Given the description of an element on the screen output the (x, y) to click on. 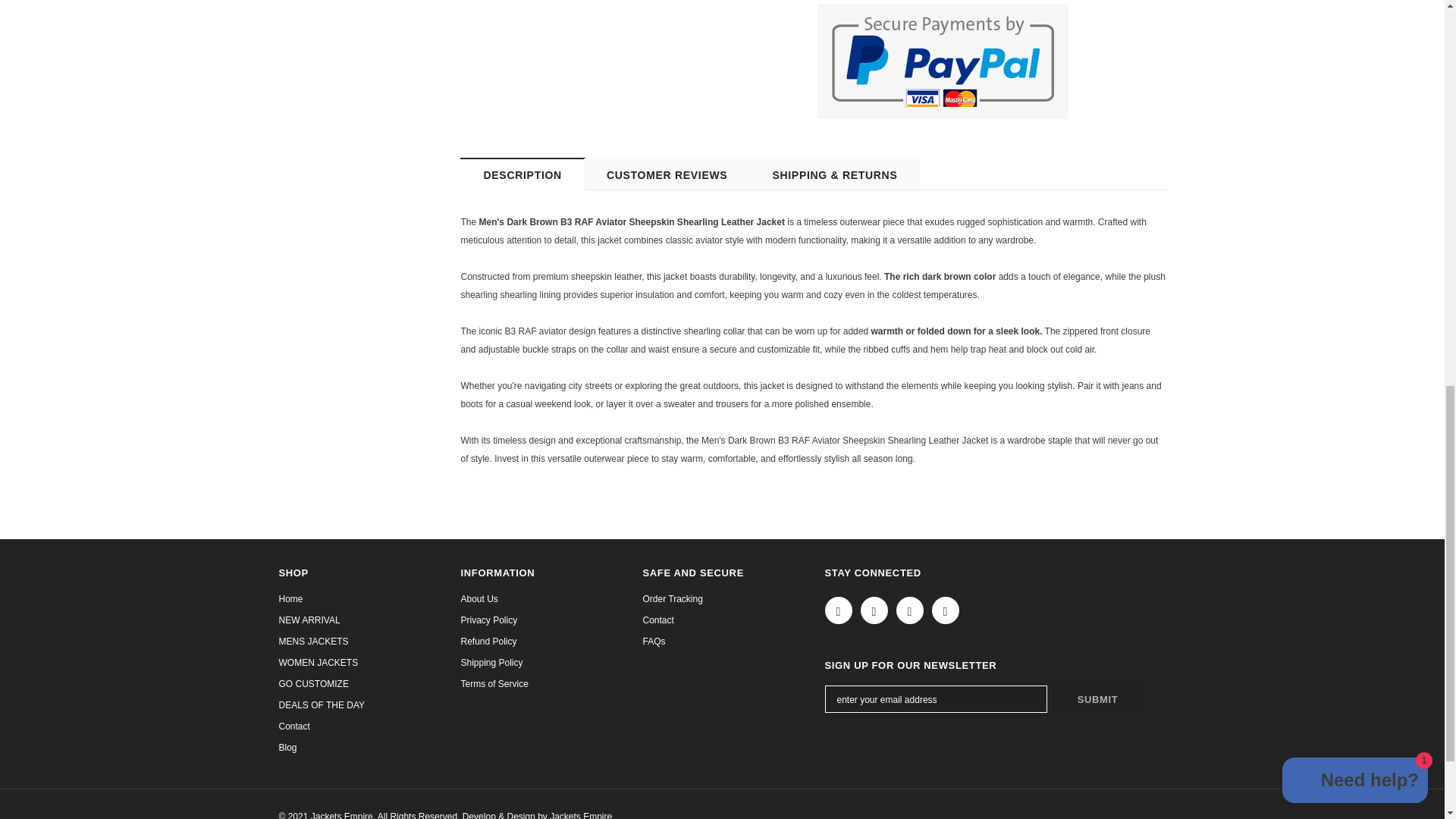
Submit (1097, 698)
WOMEN JACKETS (318, 662)
NEW ARRIVAL (309, 619)
MENS JACKETS (314, 640)
Home (290, 598)
